Given the description of an element on the screen output the (x, y) to click on. 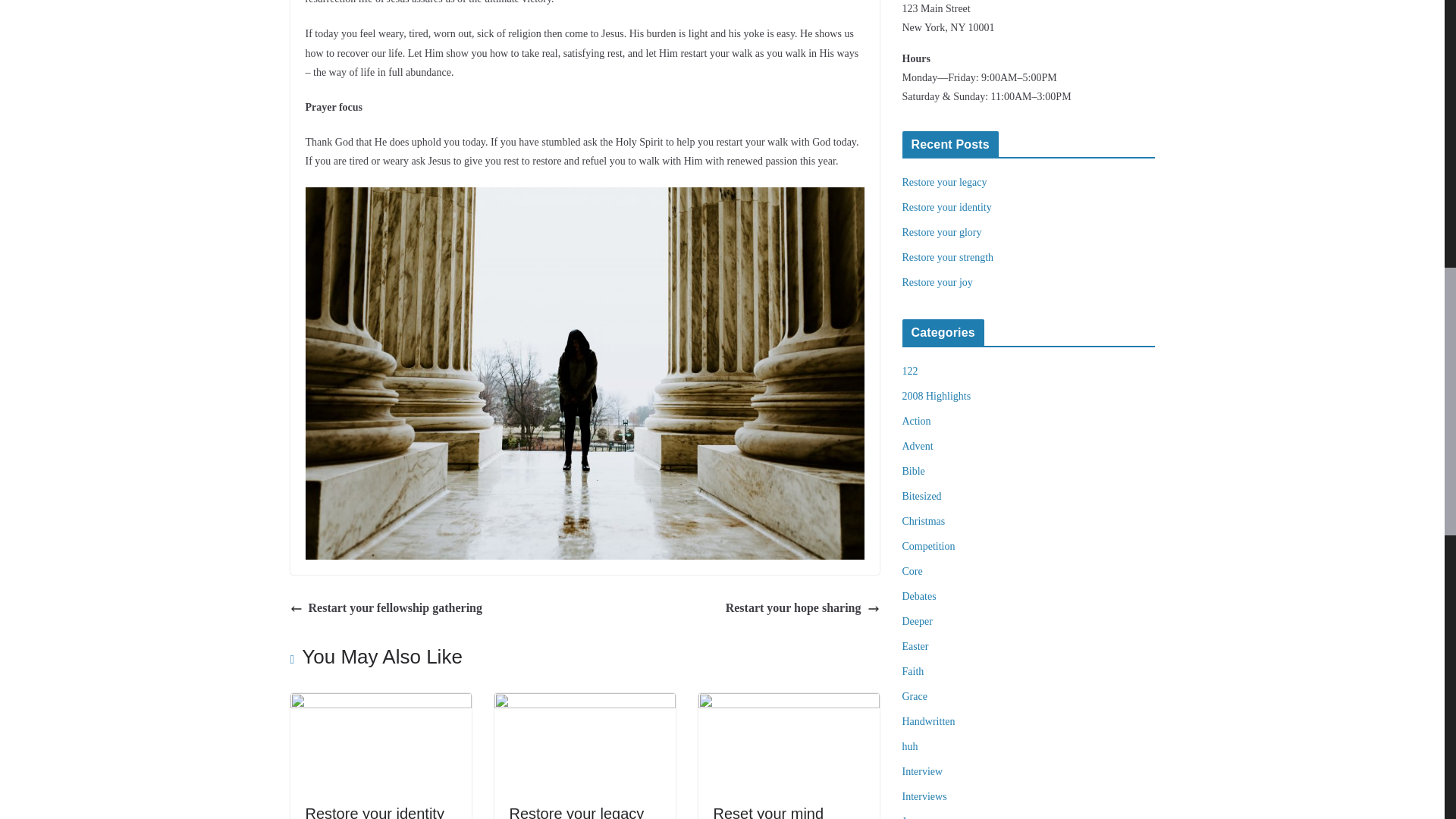
Restore your legacy (944, 182)
Restore your joy (937, 282)
Restore your legacy (577, 812)
122 (910, 370)
Restore your identity (946, 206)
Bible (913, 471)
Restore your strength (948, 256)
Restore your glory (941, 232)
Restore your legacy (585, 703)
2008 Highlights (936, 396)
Restart your fellowship gathering (385, 608)
Reset your mind (788, 703)
Reset your mind (768, 812)
Restore your legacy (577, 812)
Restart your hope sharing (802, 608)
